Given the description of an element on the screen output the (x, y) to click on. 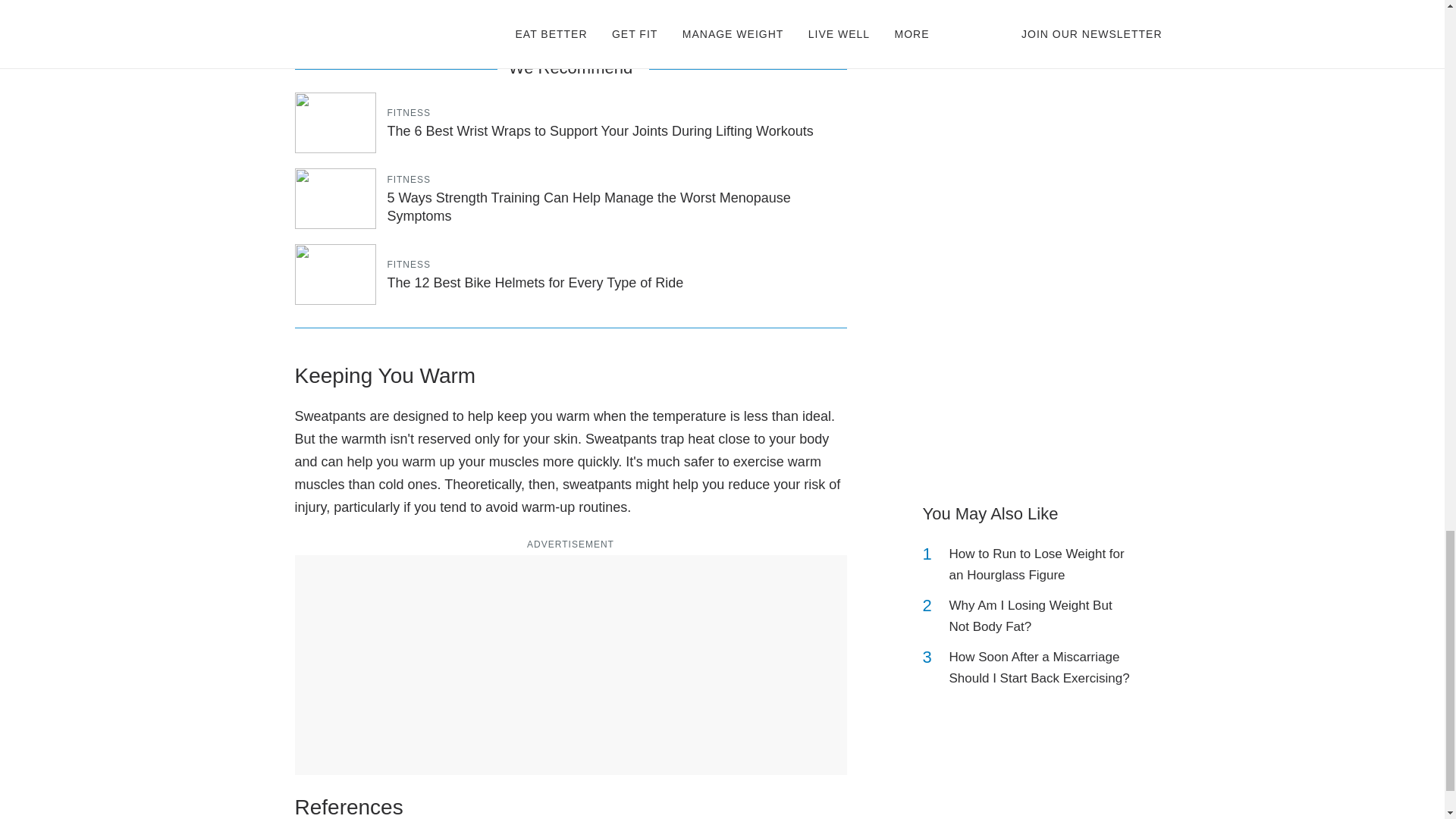
How to Run to Lose Weight for an Hourglass Figure (1042, 564)
How Soon After a Miscarriage Should I Start Back Exercising? (1042, 668)
The 12 Best Bike Helmets for Every Type of Ride (534, 282)
Why Am I Losing Weight But Not Body Fat? (1042, 616)
How Soon After a Miscarriage Should I Start Back Exercising? (1042, 668)
Why Am I Losing Weight But Not Body Fat? (1042, 616)
How to Run to Lose Weight for an Hourglass Figure (1042, 564)
